Given the description of an element on the screen output the (x, y) to click on. 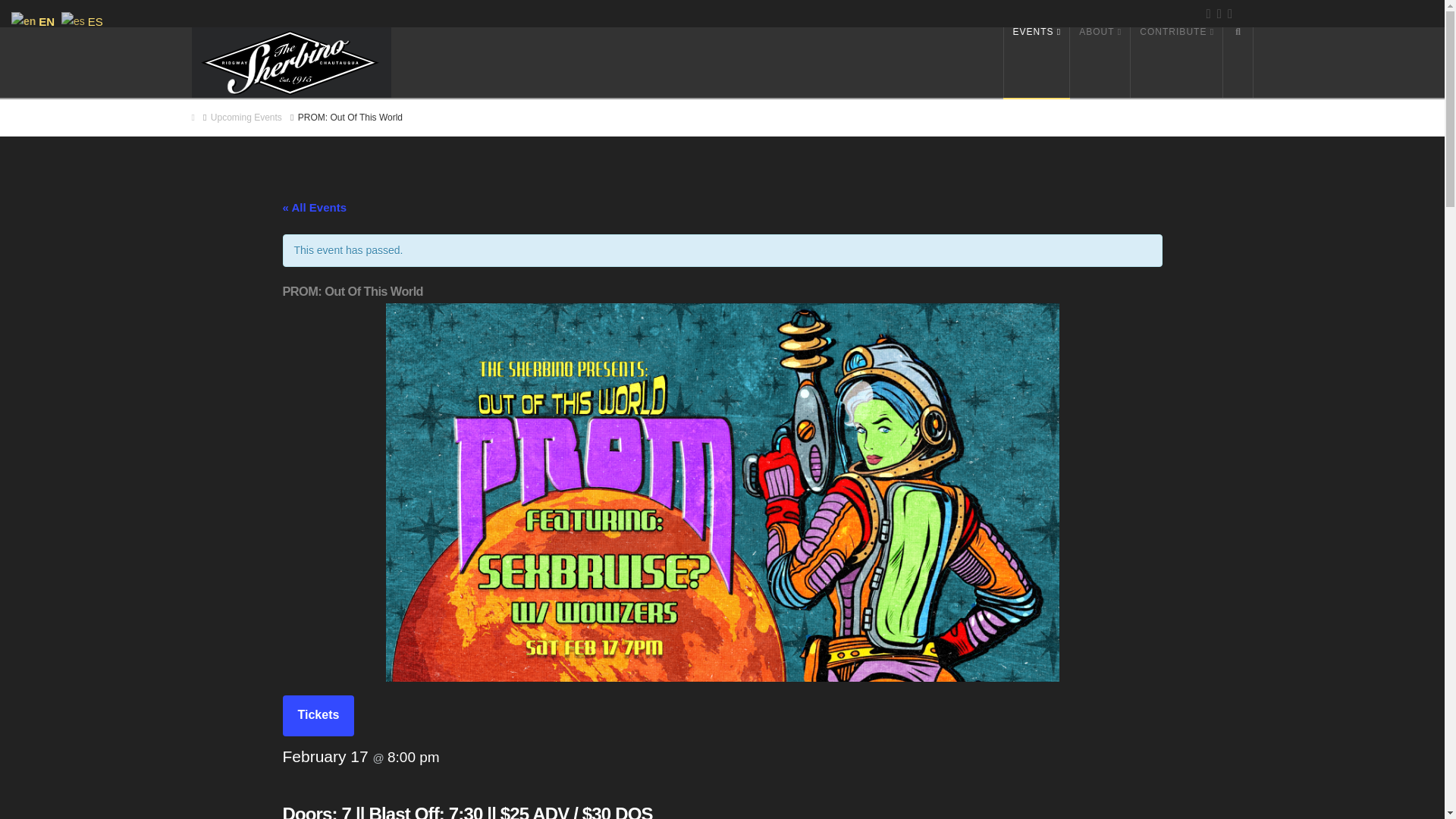
Spanish (83, 20)
EVENTS (1036, 62)
English (34, 20)
CONTRIBUTE (1177, 62)
You Are Here (350, 117)
